Given the description of an element on the screen output the (x, y) to click on. 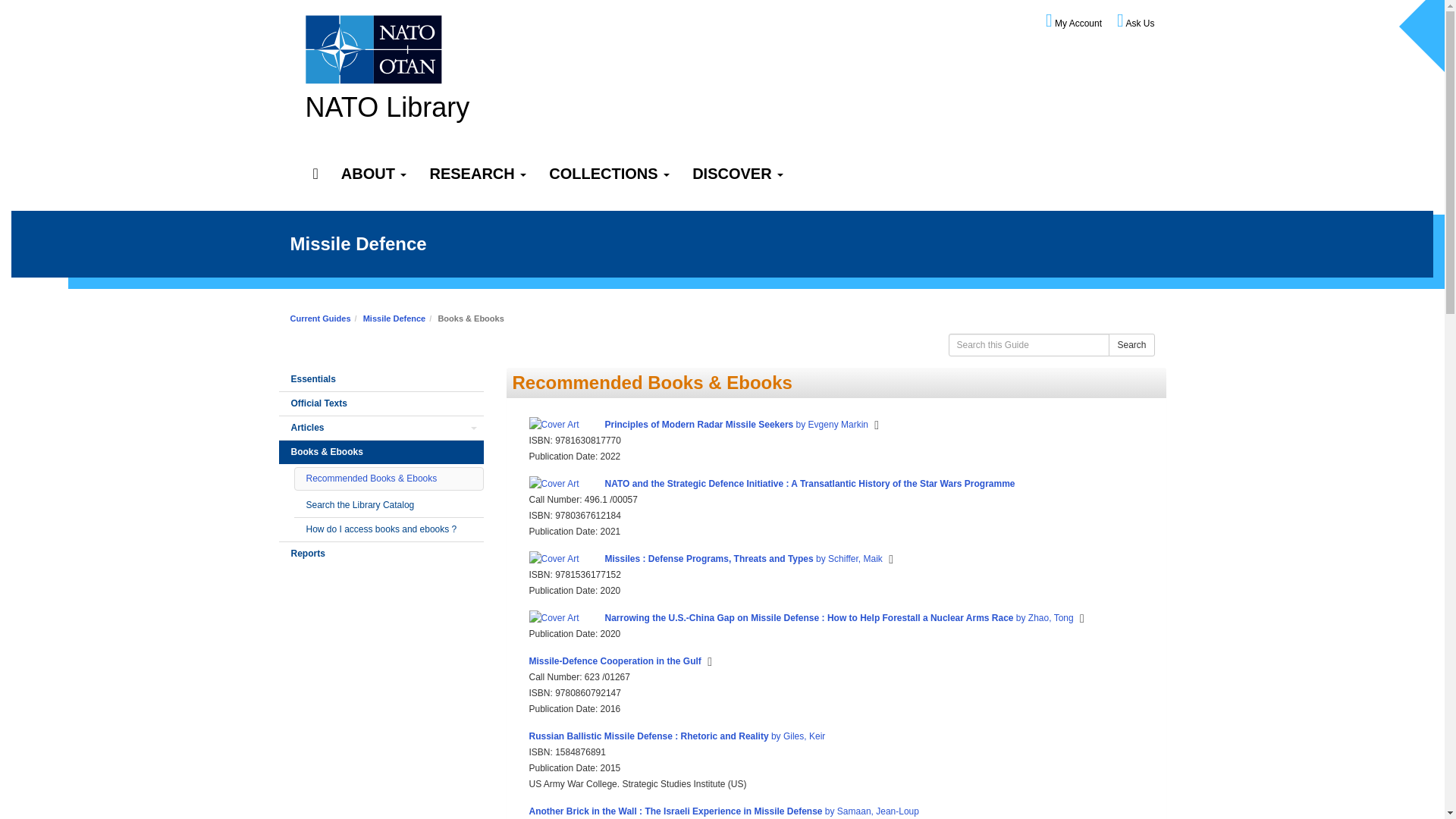
Toggle Dropdown (473, 427)
COLLECTIONS (609, 174)
Official Texts (381, 403)
Current Guides (319, 317)
ABOUT (374, 174)
Essentials (381, 379)
DISCOVER (737, 174)
Missile Defence (394, 317)
RESEARCH (477, 174)
Search (1131, 344)
